Given the description of an element on the screen output the (x, y) to click on. 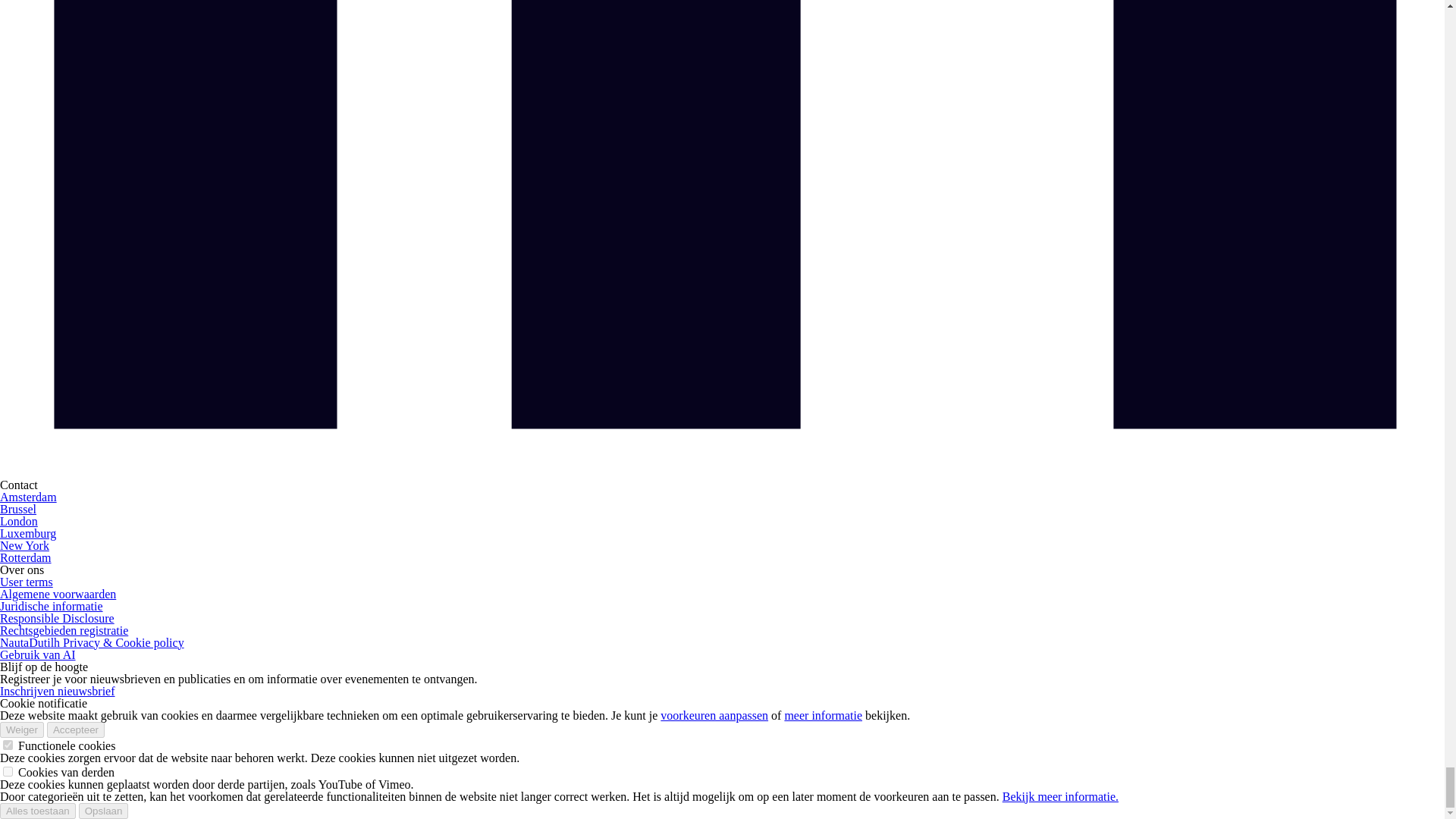
on (7, 771)
on (7, 745)
